Given the description of an element on the screen output the (x, y) to click on. 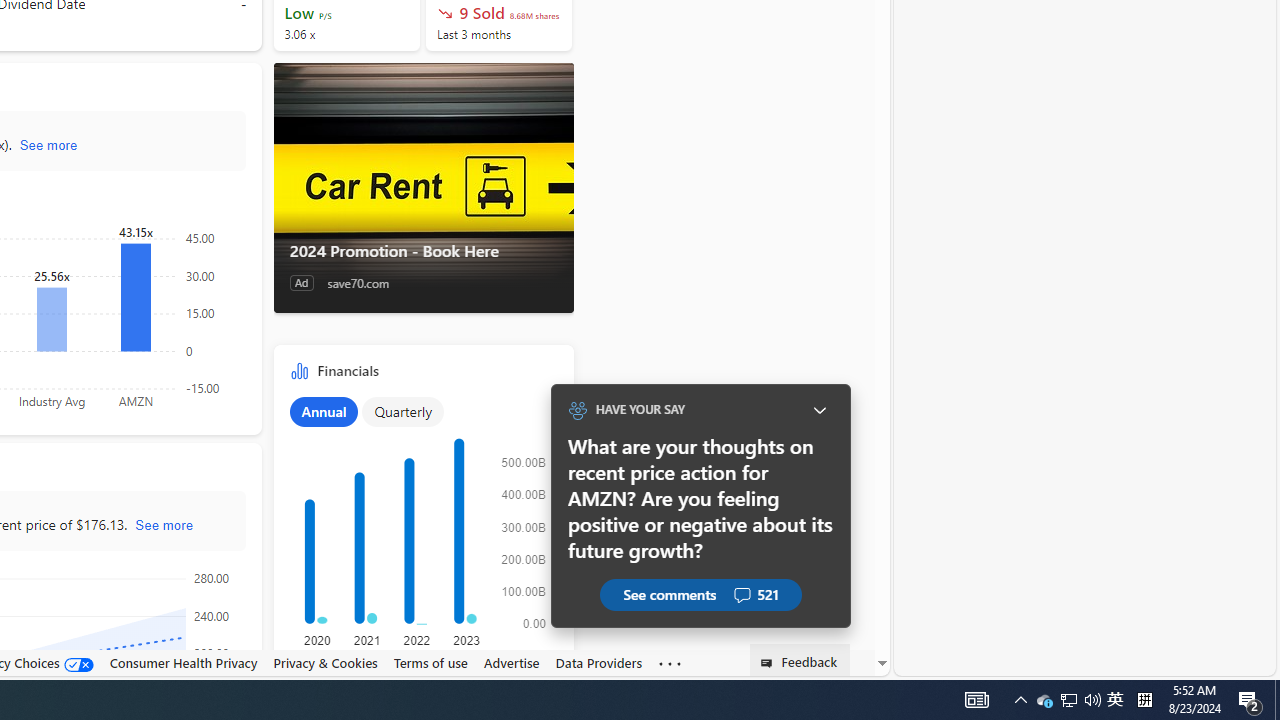
Quarterly (403, 411)
Financials (423, 522)
Class: oneFooter_seeMore-DS-EntryPoint1-1 (669, 663)
Data Providers (598, 662)
Class: chartOuter-DS-EntryPoint1-1 (419, 533)
